Given the description of an element on the screen output the (x, y) to click on. 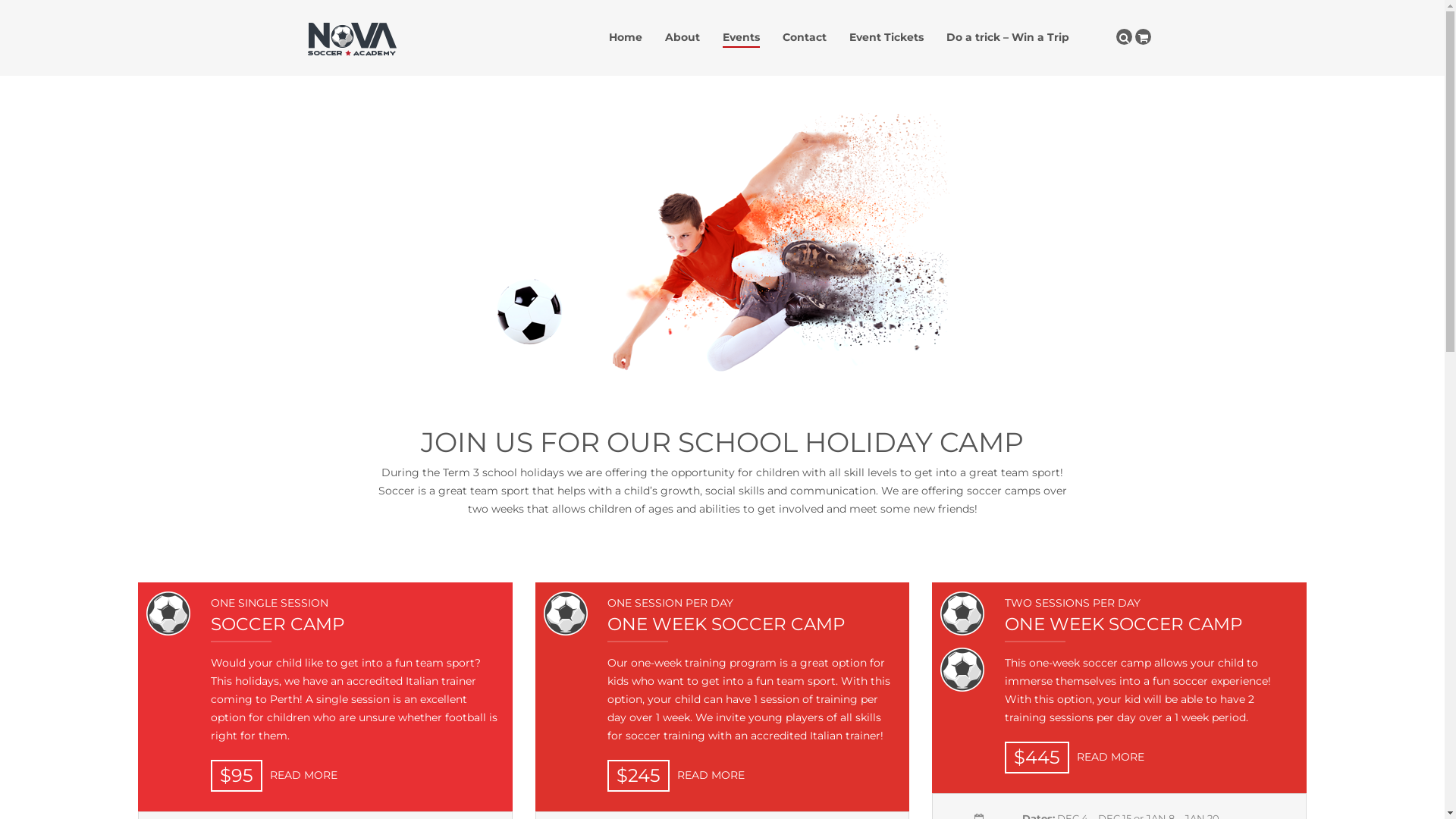
Contact Element type: text (804, 37)
Event Tickets Element type: text (886, 37)
READ MORE Element type: text (299, 774)
About Element type: text (682, 37)
READ MORE Element type: text (706, 774)
Events Element type: text (740, 37)
Home Element type: text (625, 37)
READ MORE Element type: text (1106, 756)
